Given the description of an element on the screen output the (x, y) to click on. 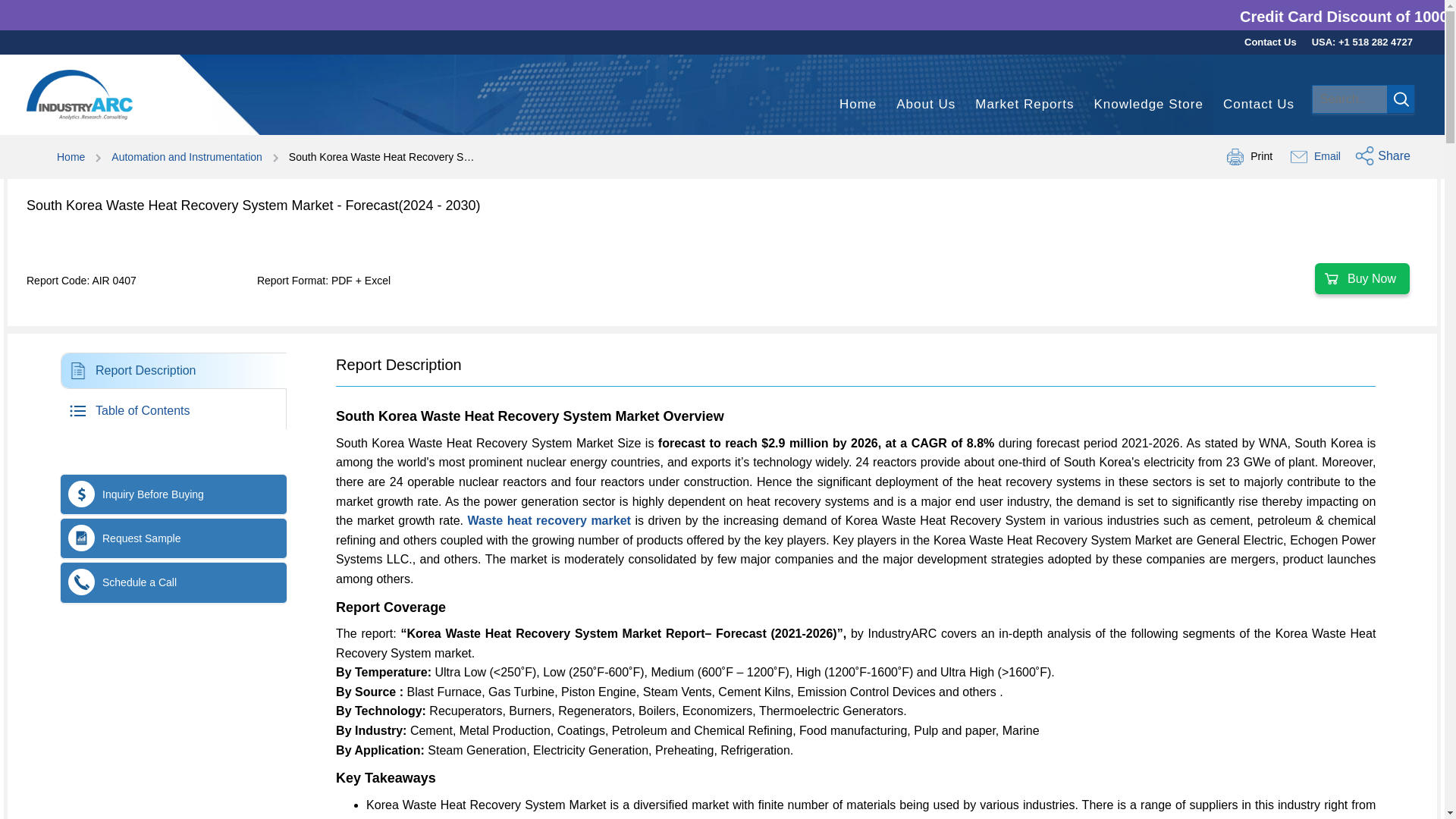
About Us (925, 104)
Market Reports (1024, 104)
Home (857, 104)
Contact Us (1270, 42)
